Given the description of an element on the screen output the (x, y) to click on. 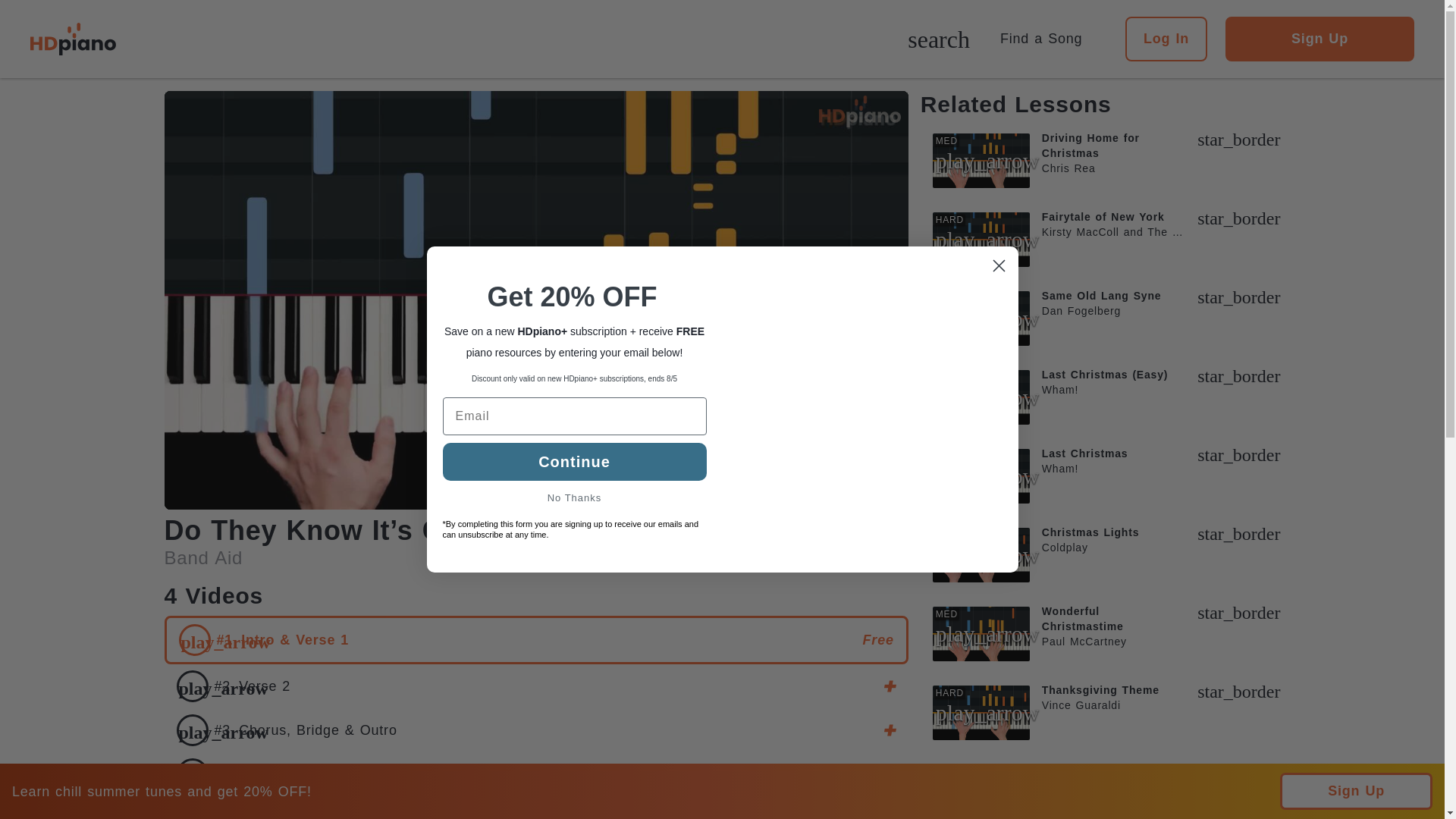
search (938, 40)
Sign Up (1319, 38)
Driving Home for Christmas by Chris Rea (1106, 160)
Sign up to get started (535, 685)
Close dialog 1 (998, 265)
Play Video (536, 299)
Sign up to get started (535, 774)
Log In (1166, 38)
Band Aid (203, 558)
Sign up to get started (535, 730)
Find a Song (1047, 38)
Sign up to get started (836, 532)
Play Video (536, 299)
